Given the description of an element on the screen output the (x, y) to click on. 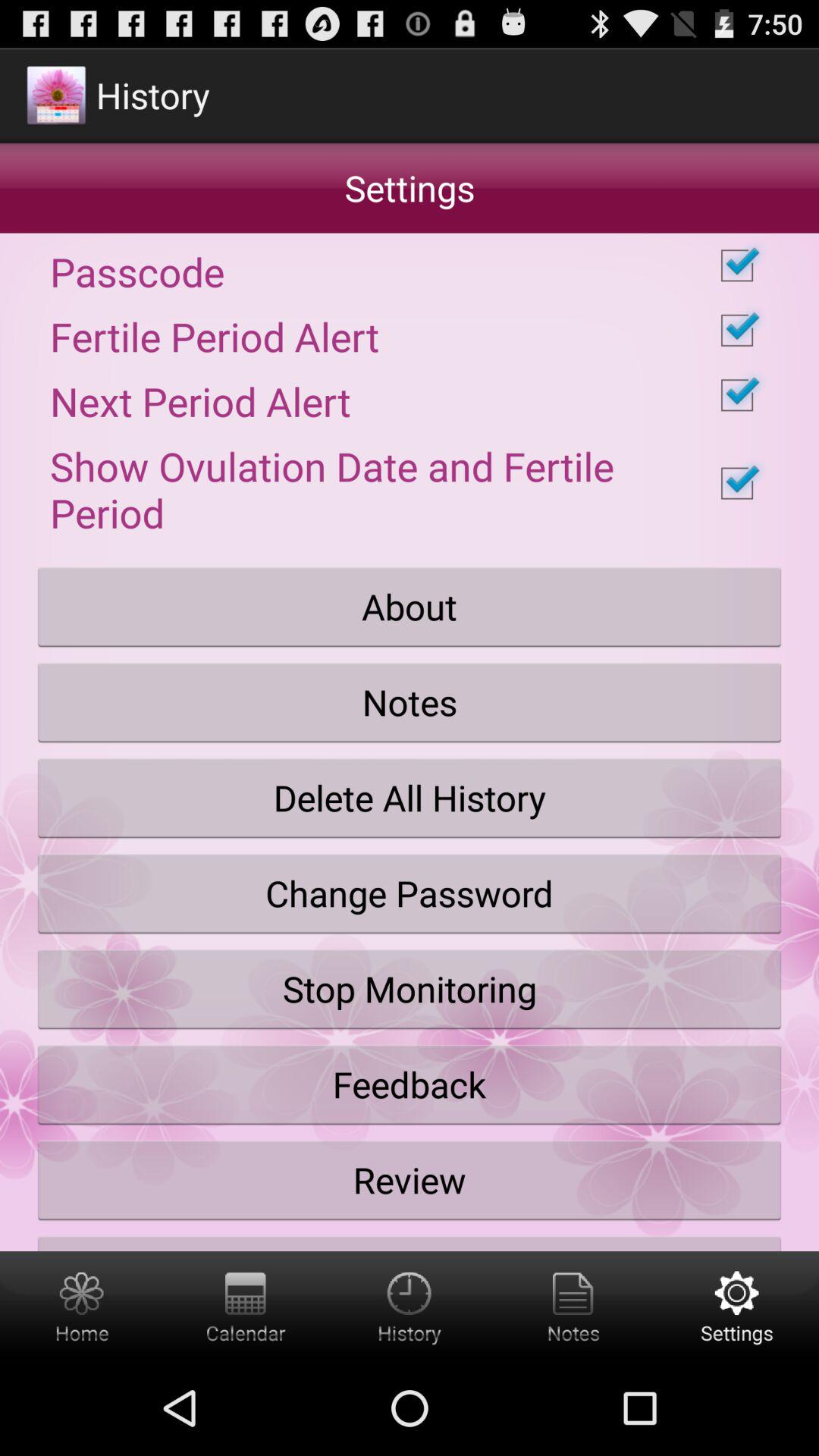
choose icon below the notes button (409, 797)
